Given the description of an element on the screen output the (x, y) to click on. 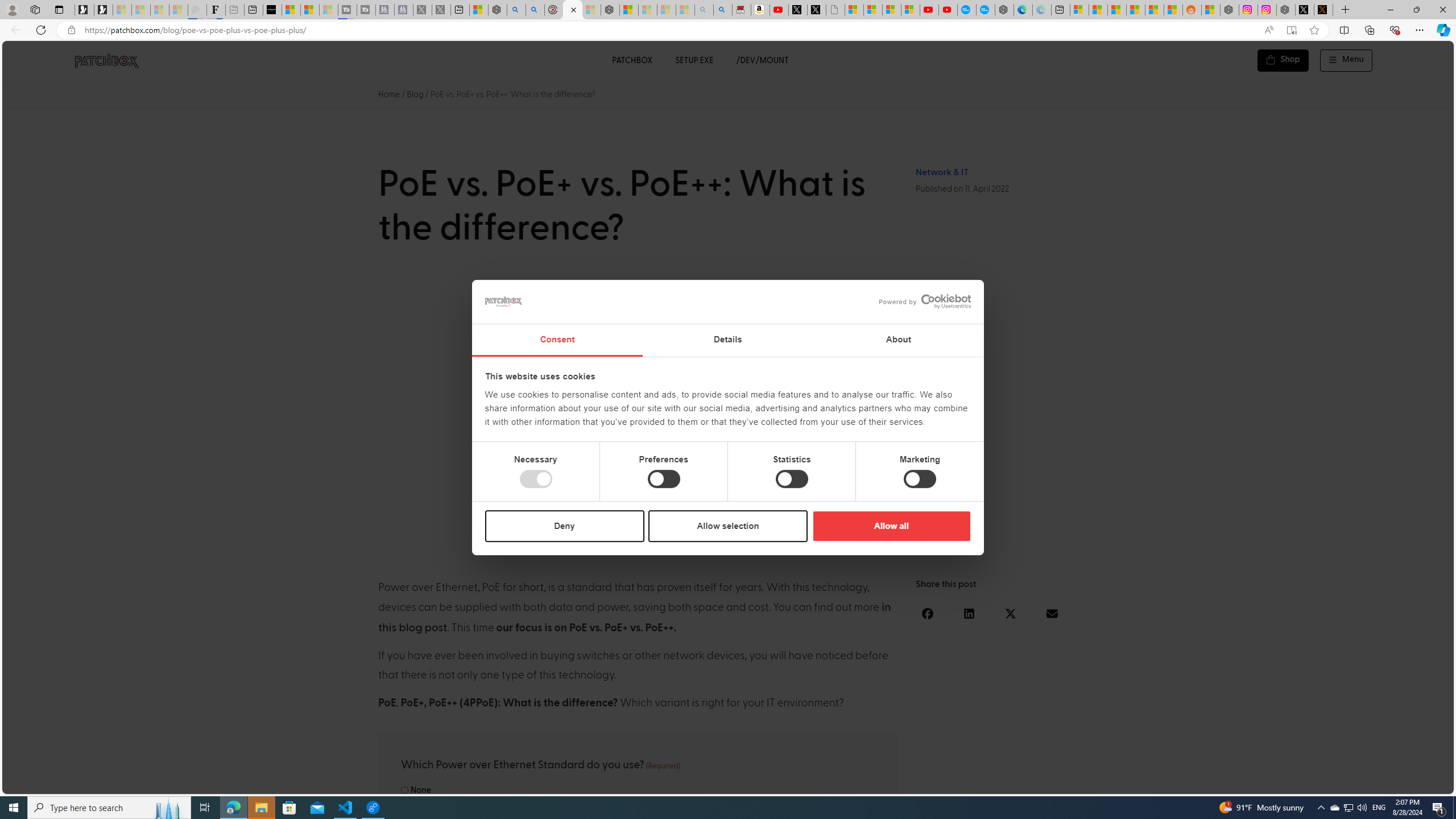
Language switcher : Slovenian (1333, 782)
Share on x-twitter (1010, 613)
Blog (414, 94)
Language switcher : Czech (1413, 782)
Preferences (663, 479)
